Given the description of an element on the screen output the (x, y) to click on. 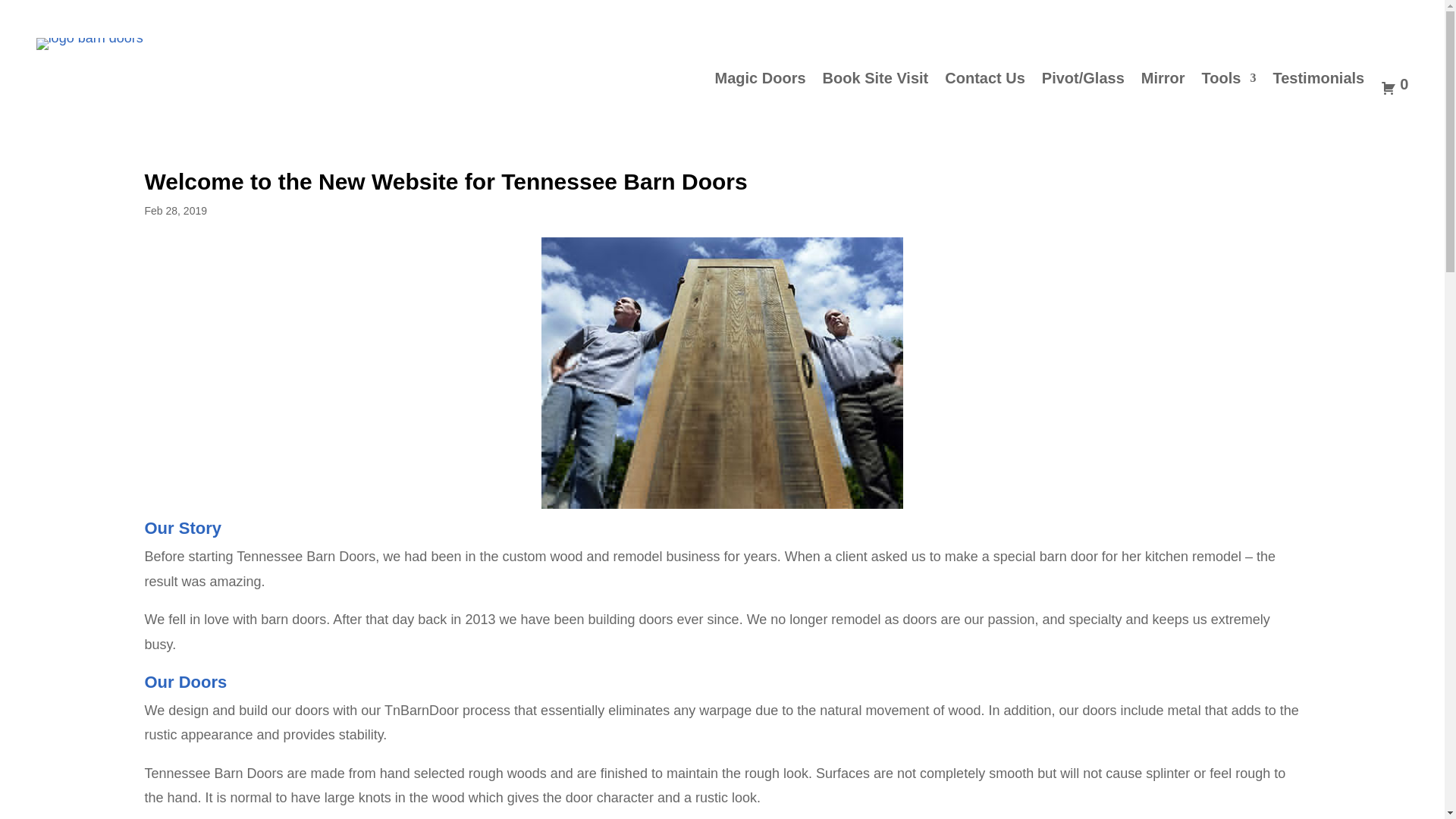
Book Site Visit (875, 86)
Tools (1229, 86)
Magic Doors (760, 86)
View Quote (1393, 86)
Contact Us (984, 86)
Hardware (1384, 17)
about (722, 372)
Commercial (1312, 17)
Mirror (1163, 86)
Residential (1184, 17)
Builder (1246, 17)
logo blk sm (89, 43)
